Given the description of an element on the screen output the (x, y) to click on. 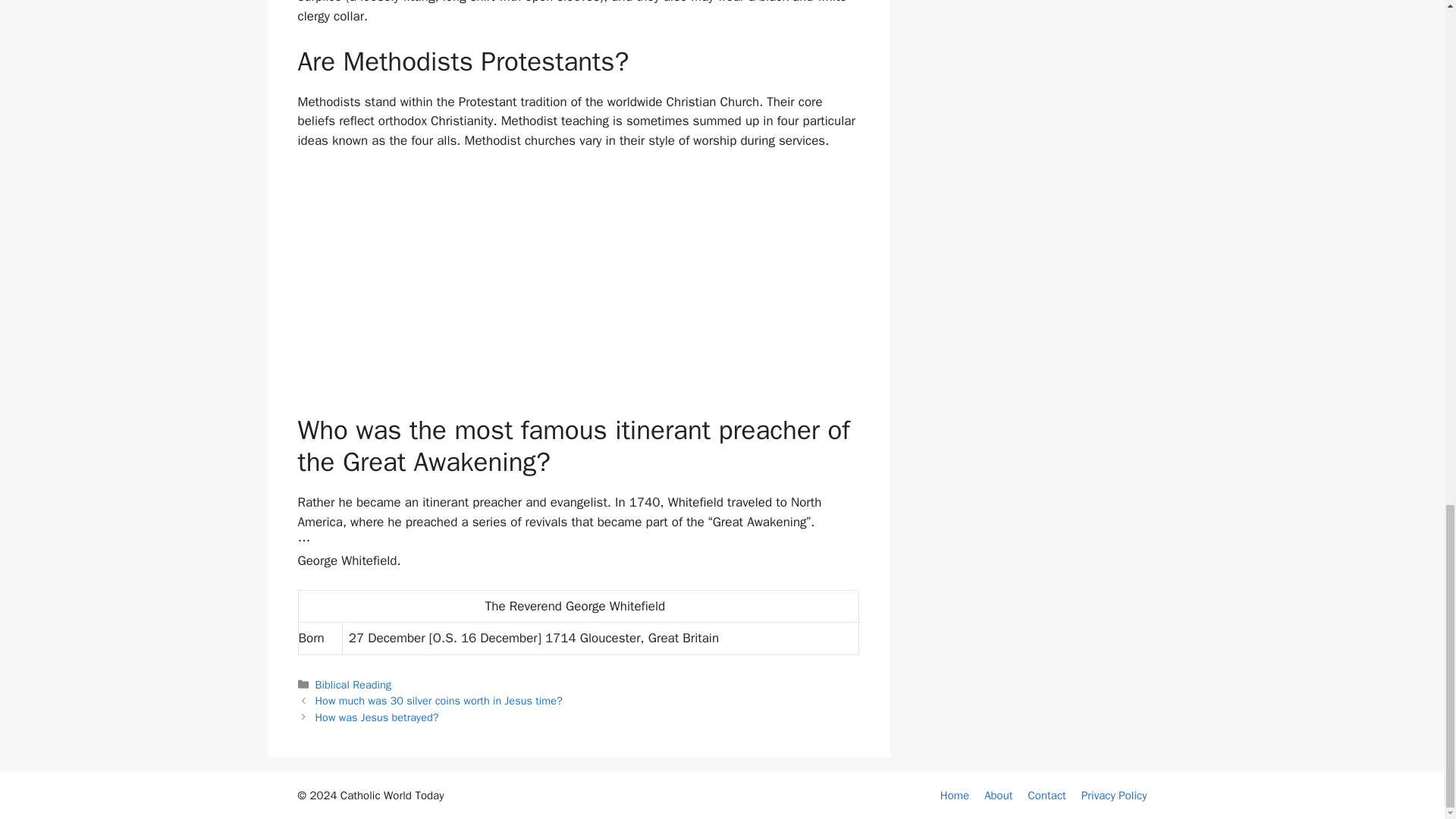
How much was 30 silver coins worth in Jesus time? (438, 700)
About (997, 795)
Biblical Reading (353, 684)
Home (954, 795)
How was Jesus betrayed? (377, 716)
Contact (1046, 795)
Privacy Policy (1114, 795)
Scroll back to top (1406, 205)
